Given the description of an element on the screen output the (x, y) to click on. 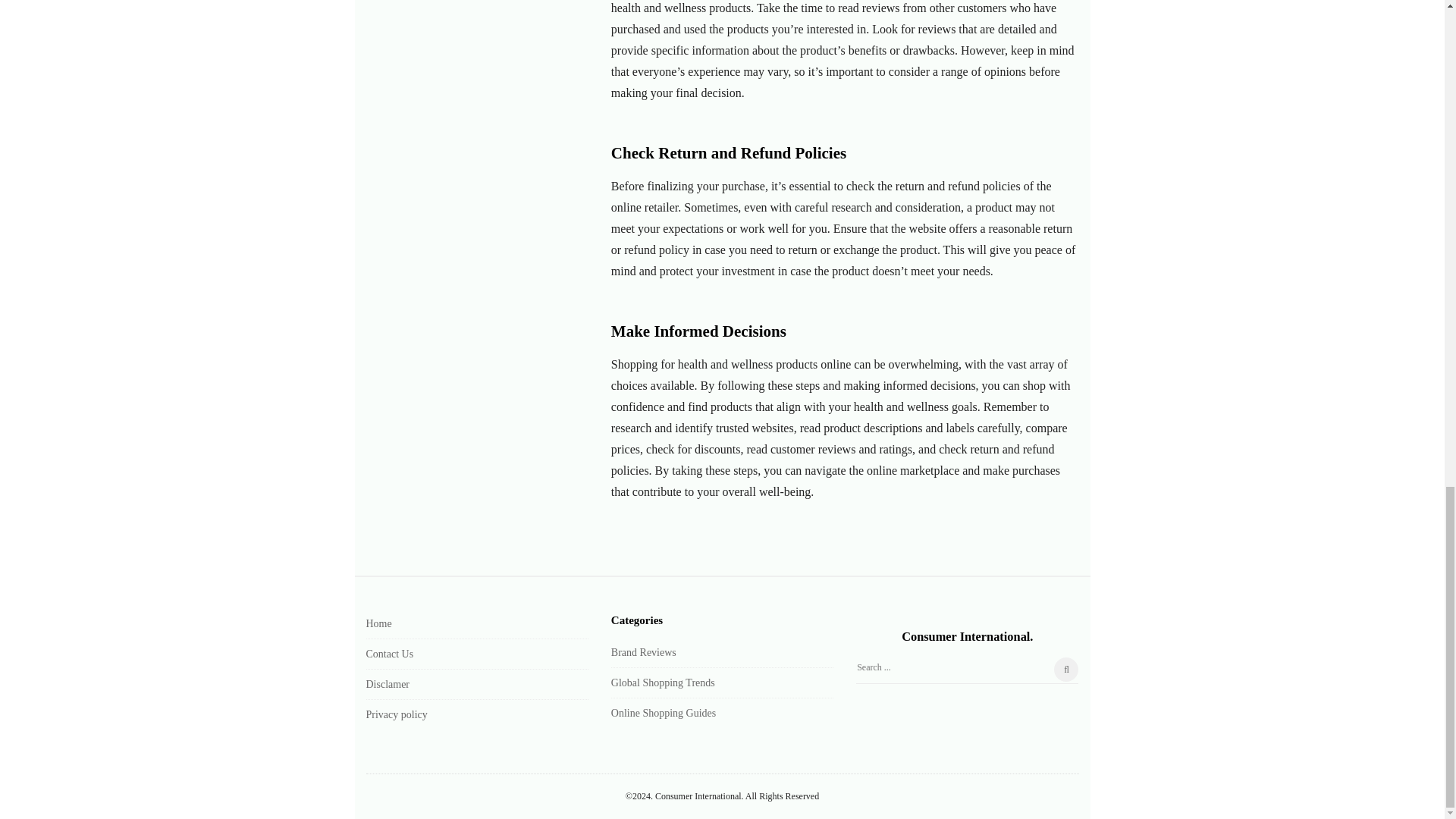
Search for: (967, 670)
Brand Reviews (644, 652)
Contact Us (389, 654)
Disclamer (387, 684)
Privacy policy (395, 714)
Online Shopping Guides (663, 713)
Home (378, 623)
Global Shopping Trends (662, 682)
